Given the description of an element on the screen output the (x, y) to click on. 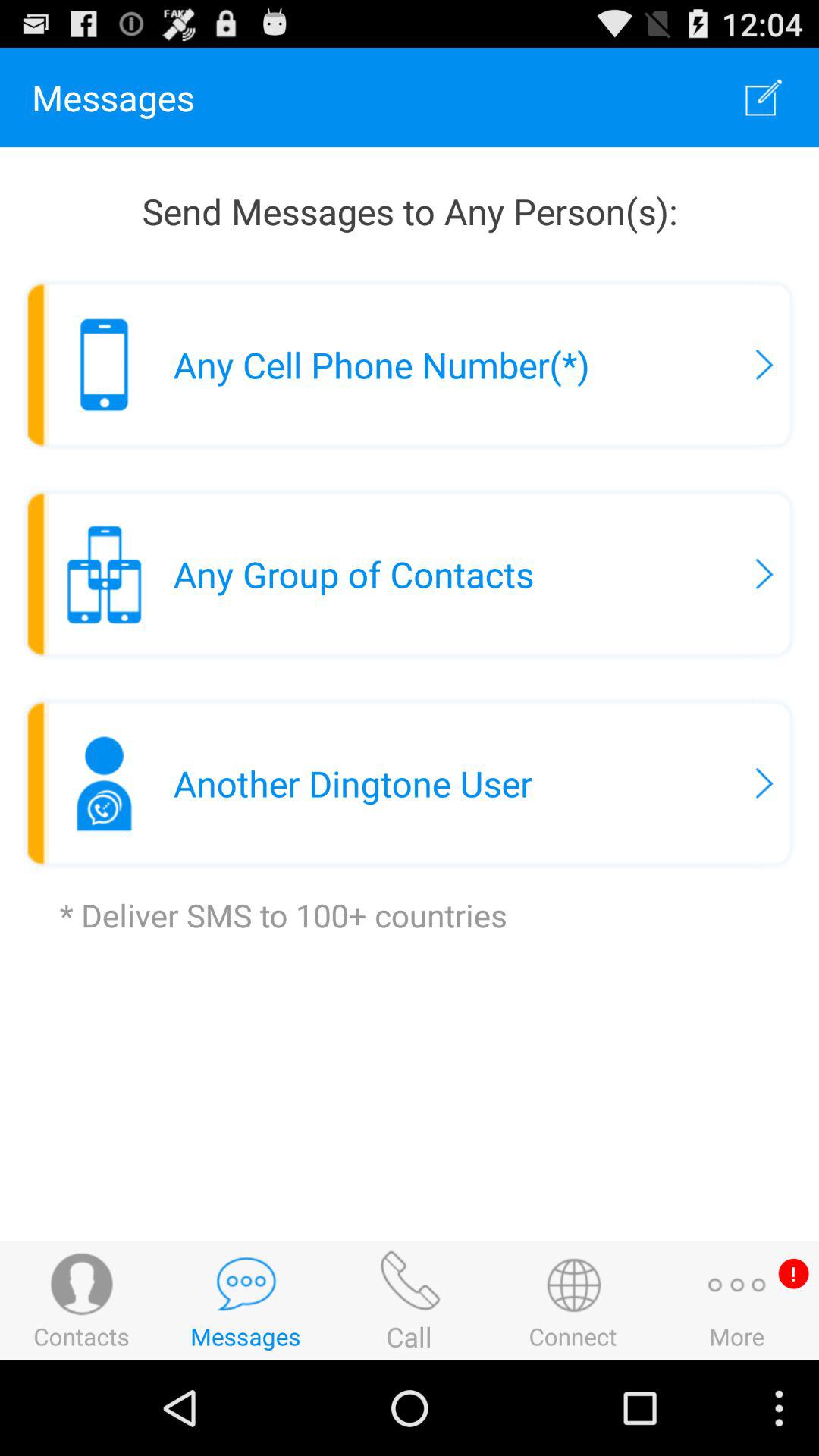
to type message (763, 97)
